Given the description of an element on the screen output the (x, y) to click on. 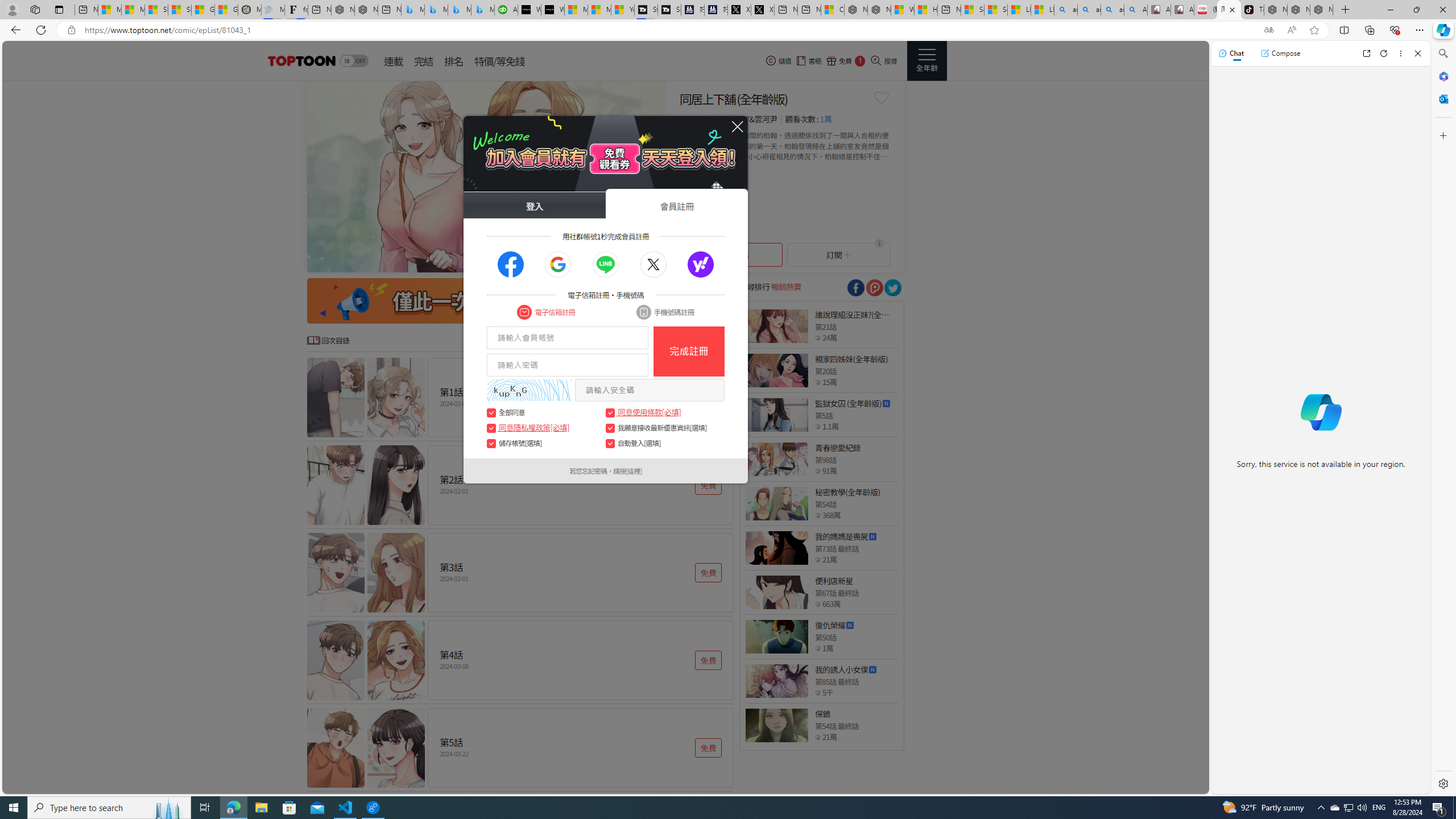
amazon - Search Images (1112, 9)
Tab actions menu (58, 9)
More options (1401, 53)
New tab (949, 9)
Class: socialShare (892, 287)
Accounting Software for Accountants, CPAs and Bookkeepers (505, 9)
Microsoft 365 (1442, 76)
